Given the description of an element on the screen output the (x, y) to click on. 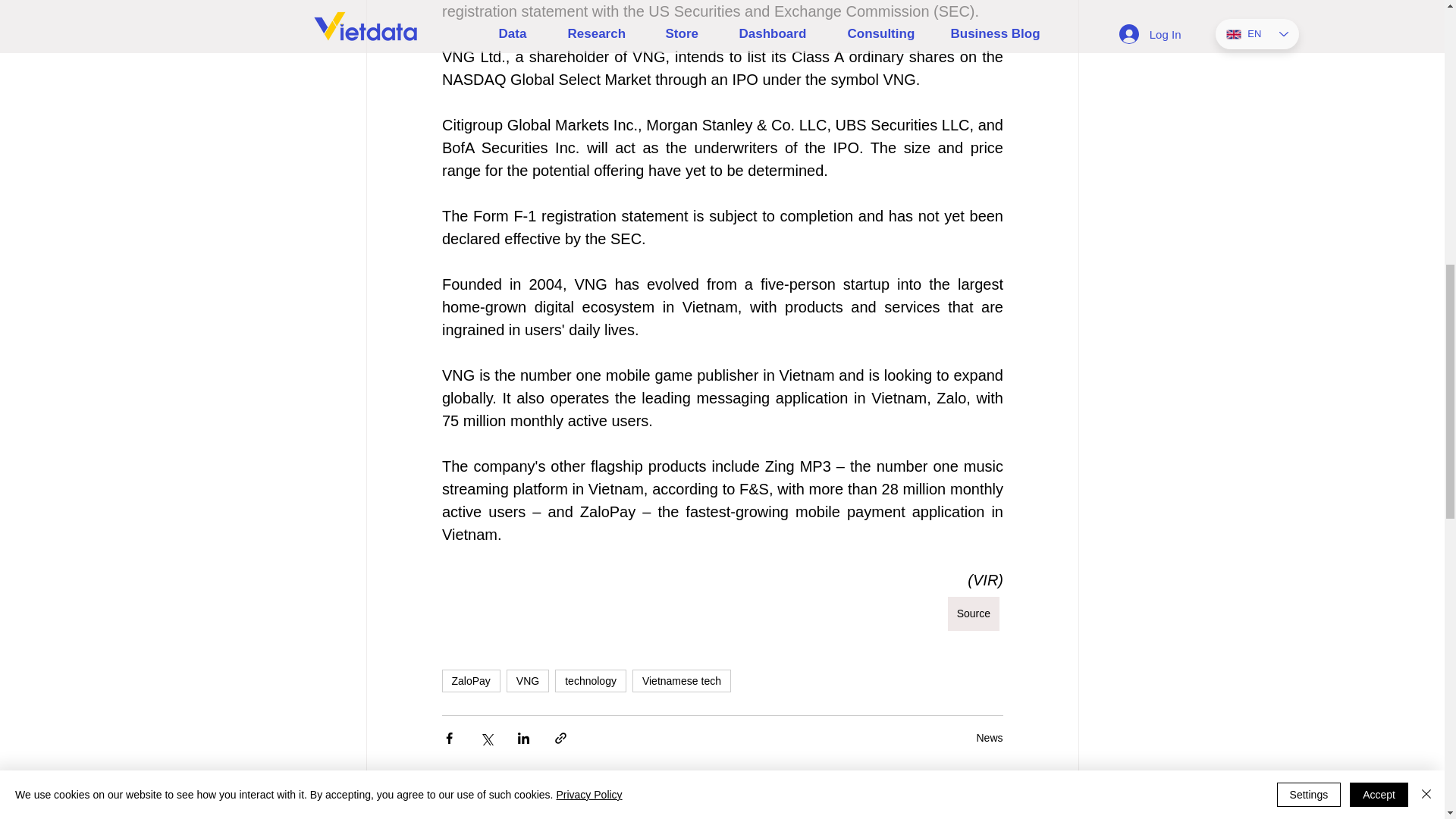
technology (590, 680)
News (989, 737)
ZaloPay (470, 680)
Vietnamese tech (680, 680)
Source (972, 613)
VNG (527, 680)
